Given the description of an element on the screen output the (x, y) to click on. 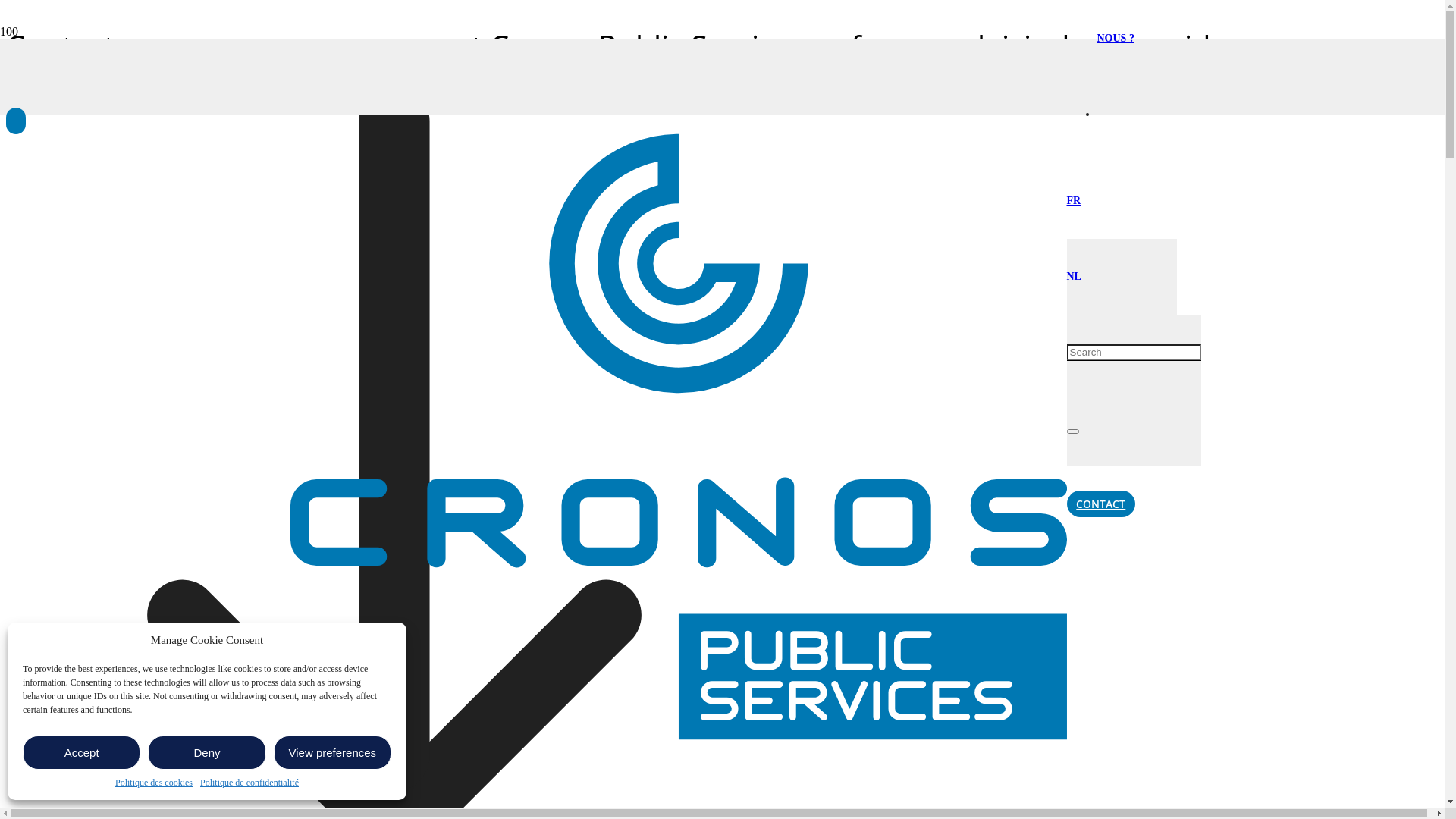
Politique des cookies Element type: text (153, 782)
Accept Element type: text (81, 752)
Deny Element type: text (206, 752)
View preferences Element type: text (332, 752)
NL Element type: text (1073, 276)
CONTACT Element type: text (1100, 503)
FR Element type: text (1073, 200)
